Given the description of an element on the screen output the (x, y) to click on. 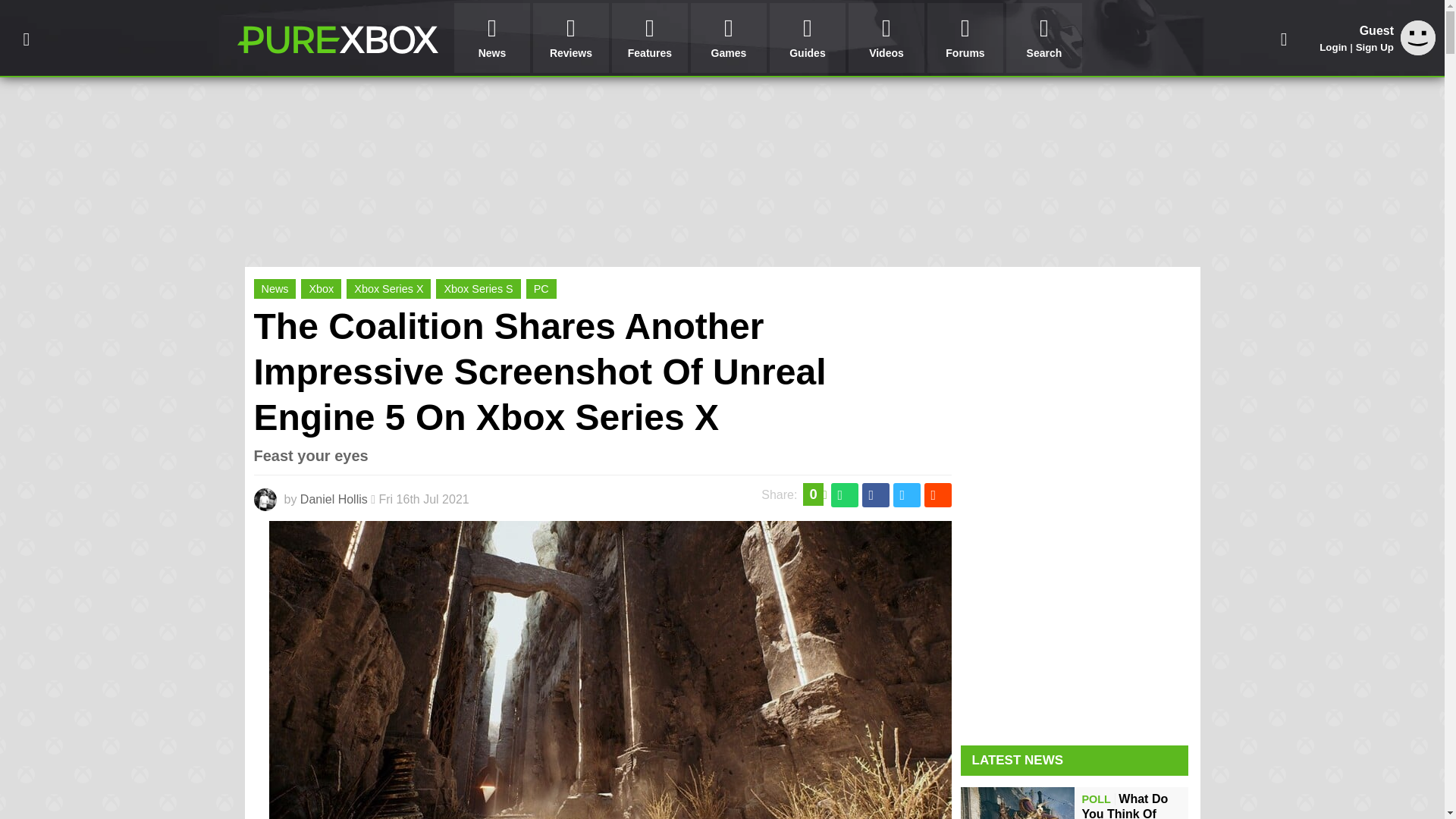
Share this on Reddit (936, 494)
Pure Xbox (336, 39)
Share this on Facebook (874, 494)
Xbox Series X (388, 288)
Videos (886, 37)
Xbox (320, 288)
Search (1043, 37)
Forums (965, 37)
PC (540, 288)
